Given the description of an element on the screen output the (x, y) to click on. 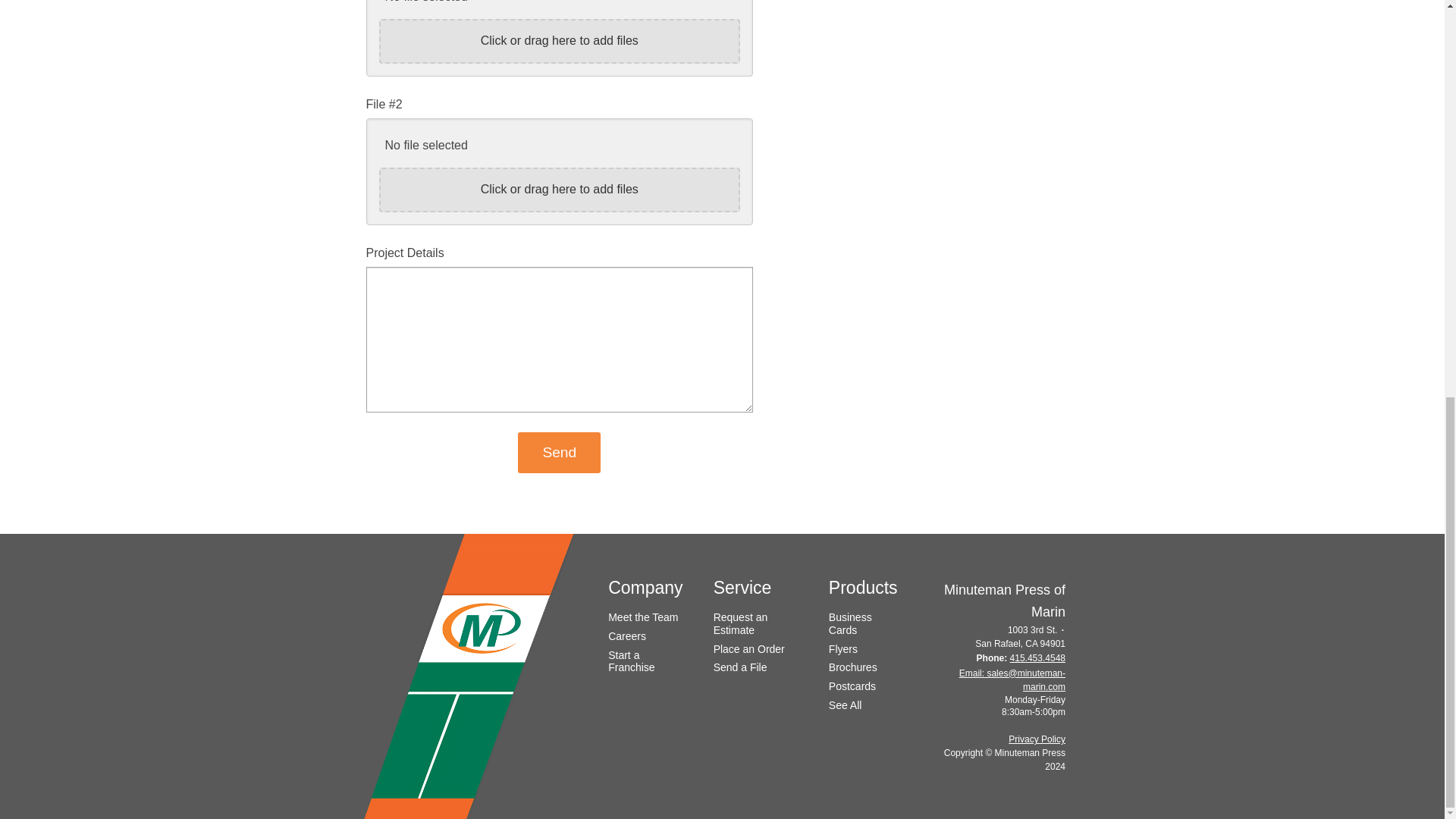
Send (558, 452)
